Given the description of an element on the screen output the (x, y) to click on. 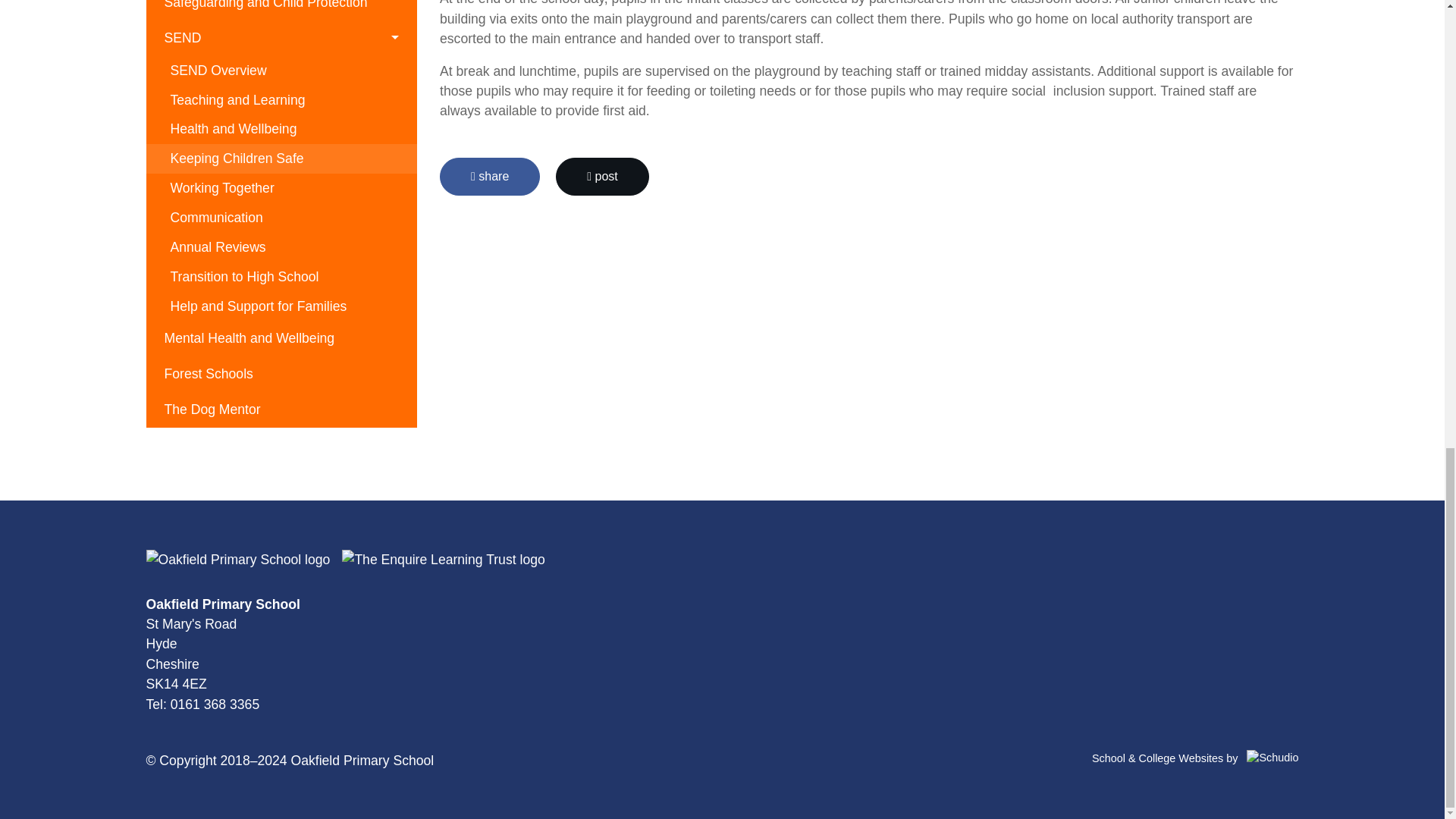
Share on Facebook (489, 176)
Post on X (602, 176)
